Given the description of an element on the screen output the (x, y) to click on. 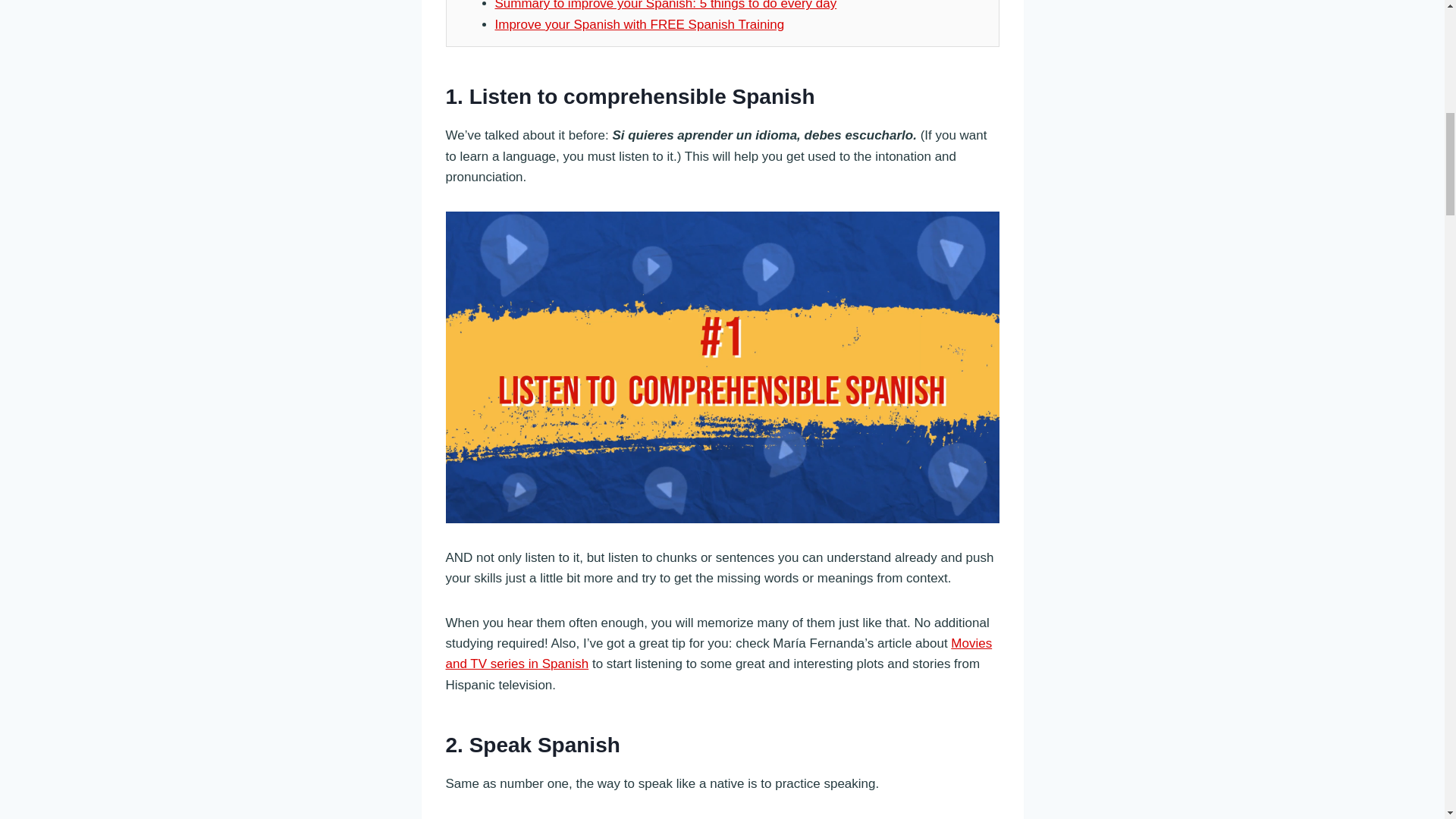
Summary to improve your Spanish: 5 things to do every day (665, 5)
